Given the description of an element on the screen output the (x, y) to click on. 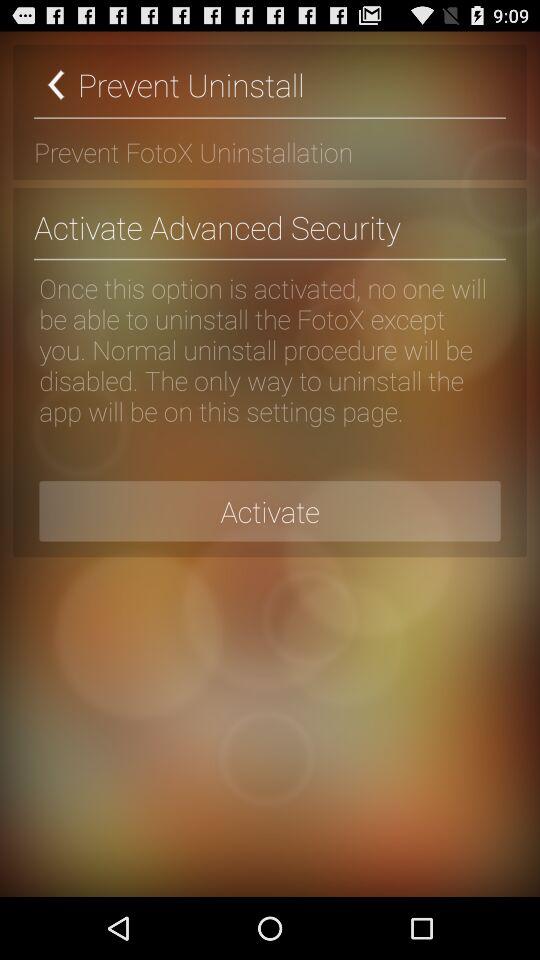
select the header text (269, 84)
